Given the description of an element on the screen output the (x, y) to click on. 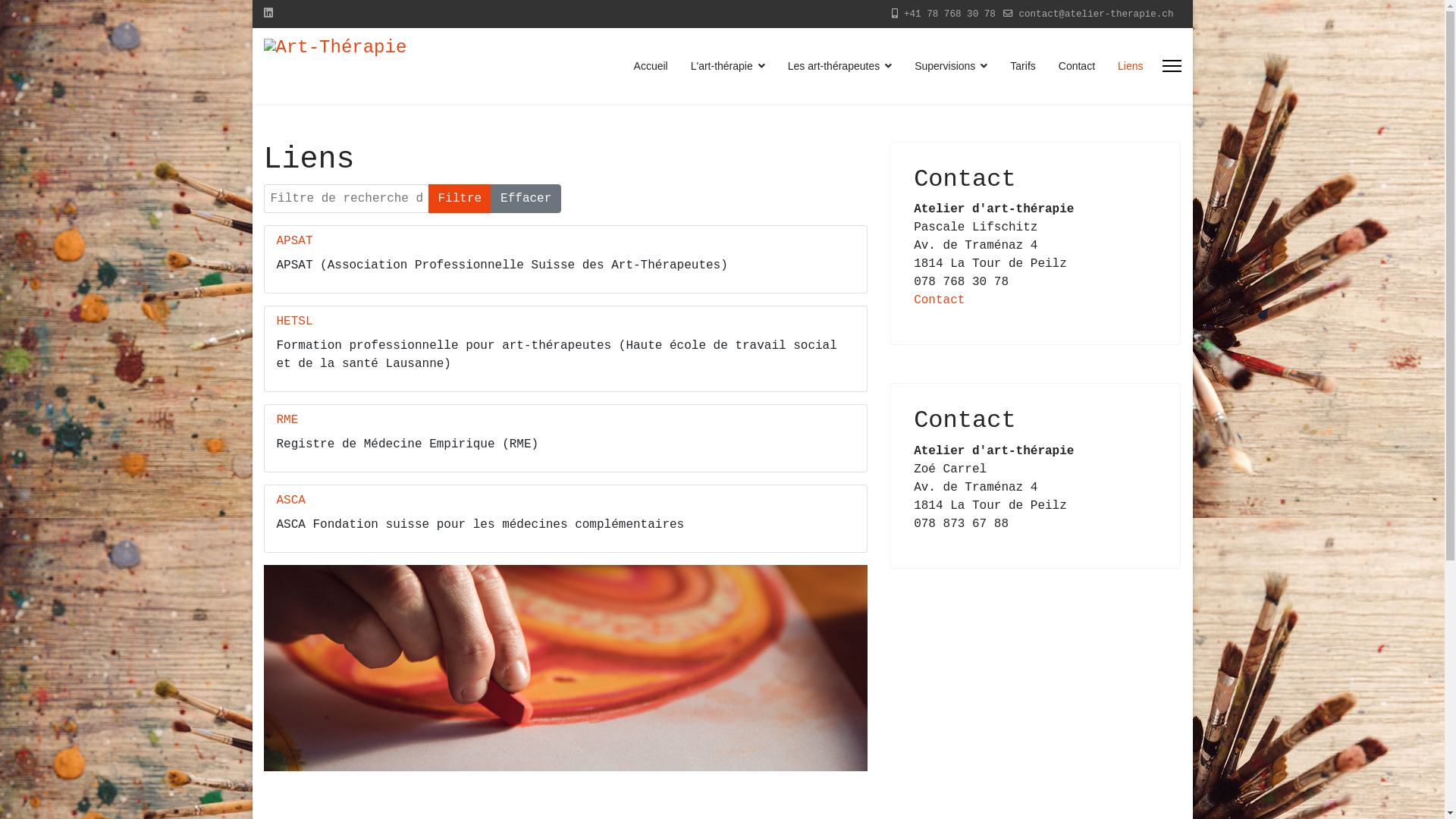
HETSL Element type: text (294, 321)
Menu Element type: hover (1170, 65)
Contact Element type: text (1076, 65)
RME Element type: text (287, 419)
Filtre Element type: text (459, 198)
Effacer Element type: text (525, 198)
Liens Element type: text (1124, 65)
Previous Element type: text (308, 667)
ASCA Element type: text (290, 500)
+41 78 768 30 78 Element type: text (949, 14)
Supervisions Element type: text (950, 65)
Contact Element type: text (938, 300)
contact@atelier-therapie.ch Element type: text (1095, 14)
Tarifs Element type: text (1022, 65)
APSAT Element type: text (294, 240)
Next Element type: text (822, 667)
Accueil Element type: text (650, 65)
